Given the description of an element on the screen output the (x, y) to click on. 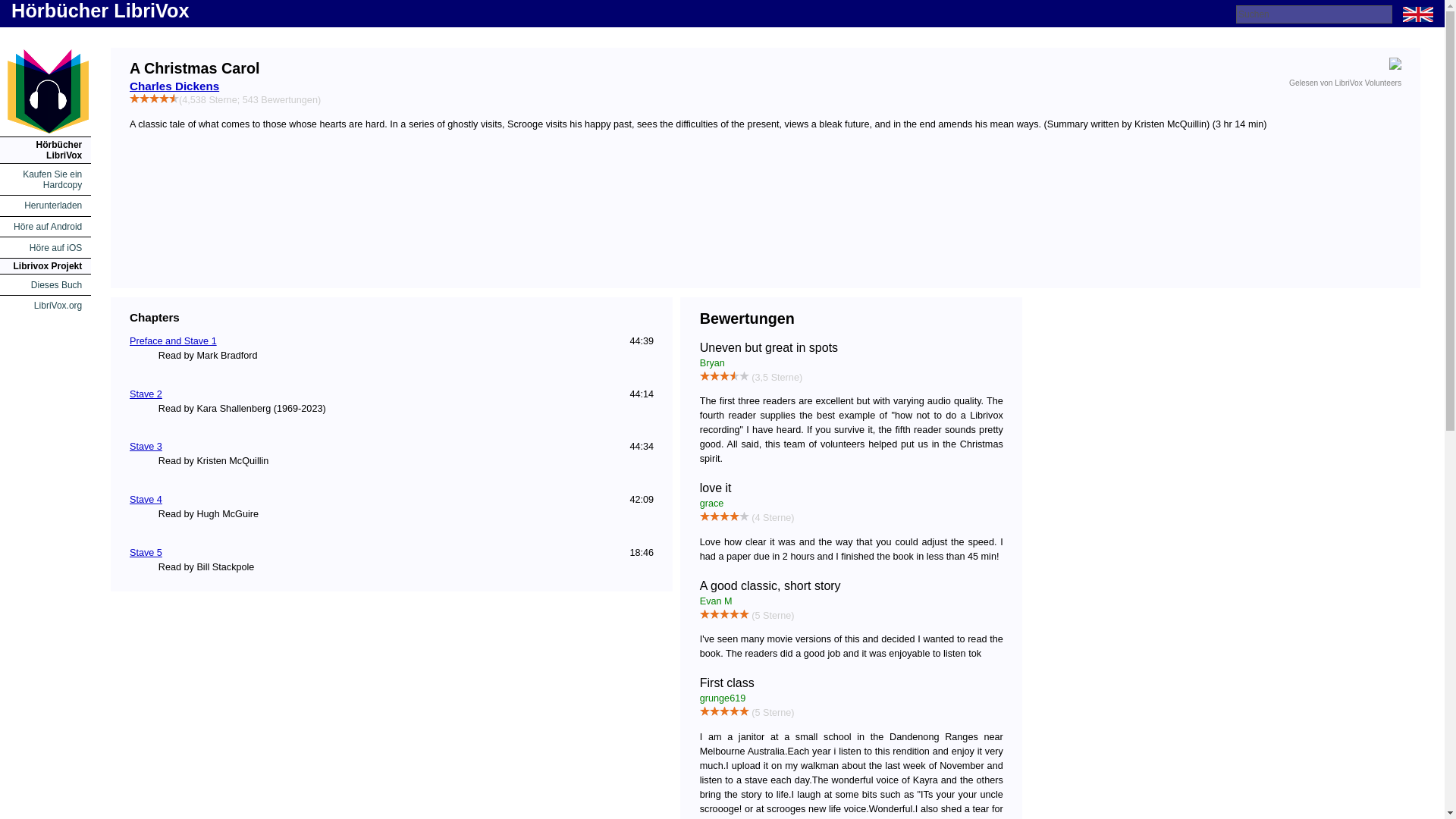
Kaufen Sie ein Hardcopy (52, 179)
Charles Dickens (174, 85)
Stave 4 (145, 499)
Stave 2 (145, 394)
Preface and Stave 1 (172, 340)
Suchen (1313, 13)
Stave 5 (145, 552)
Dieses Buch (55, 285)
Gelesen von LibriVox Volunteers (1344, 83)
Stave 3 (145, 446)
